Given the description of an element on the screen output the (x, y) to click on. 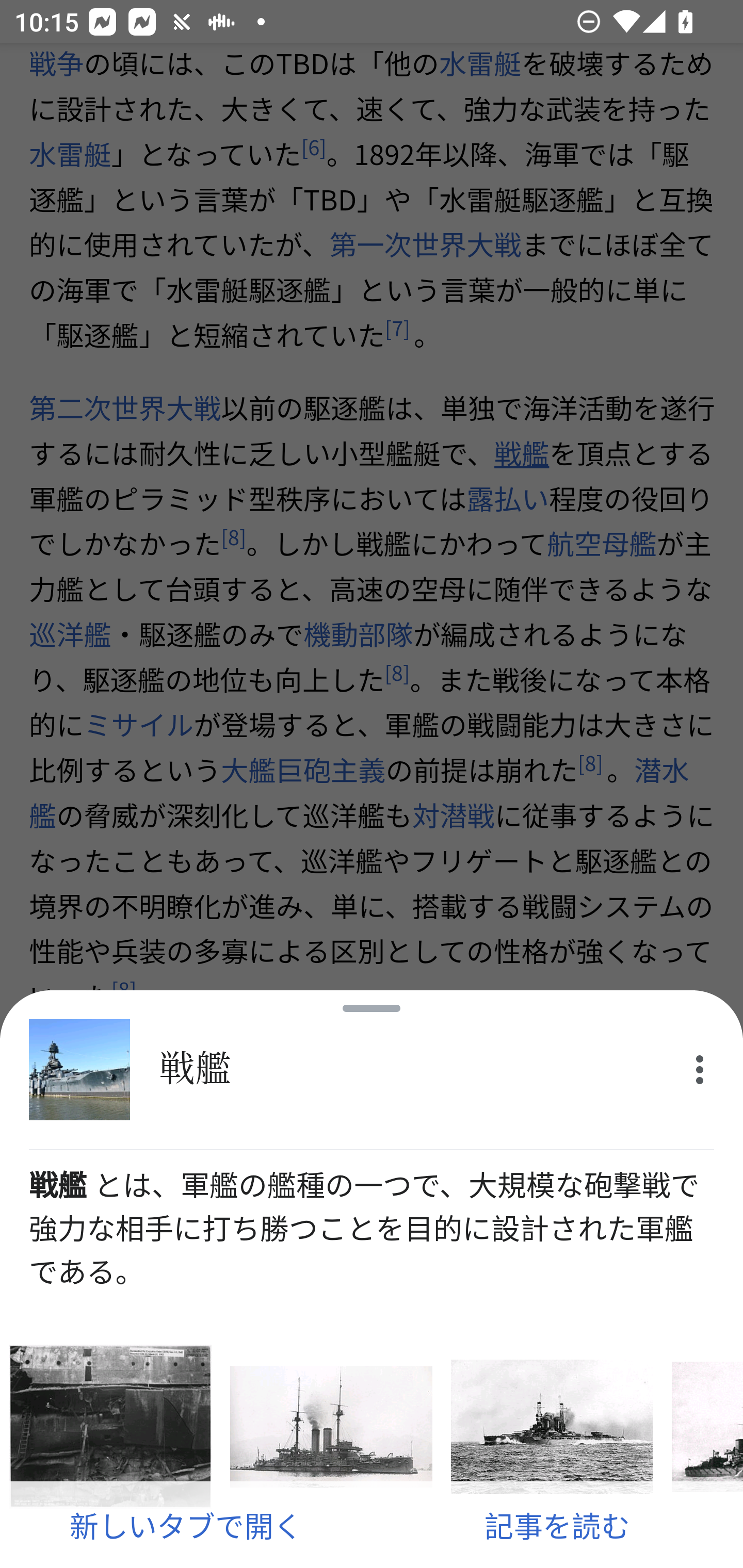
戦艦 More options (371, 1069)
More options (699, 1070)
新しいタブで開く (185, 1524)
記事を読む (557, 1524)
